Given the description of an element on the screen output the (x, y) to click on. 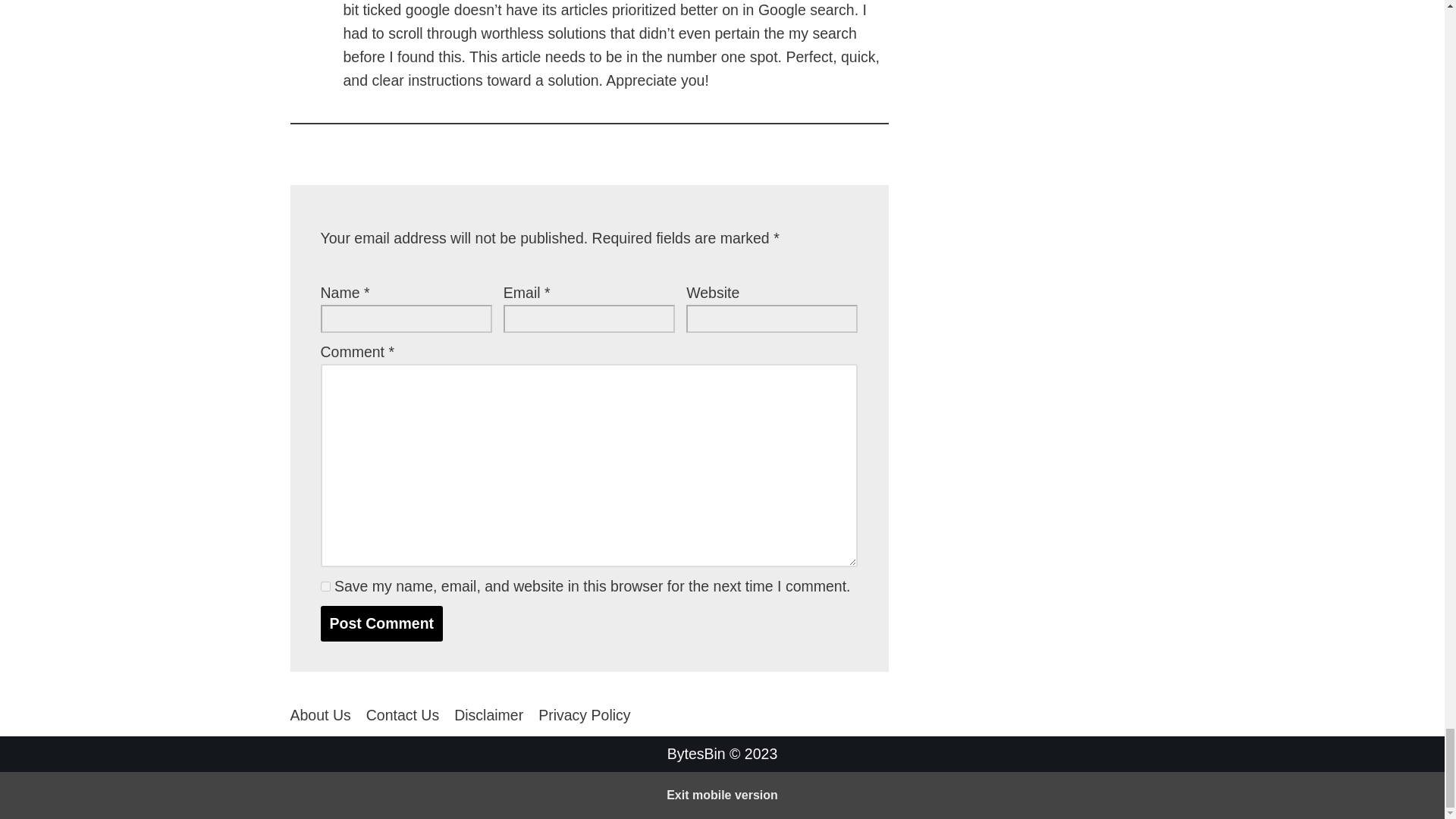
yes (325, 586)
Post Comment (381, 623)
Post Comment (381, 623)
